Given the description of an element on the screen output the (x, y) to click on. 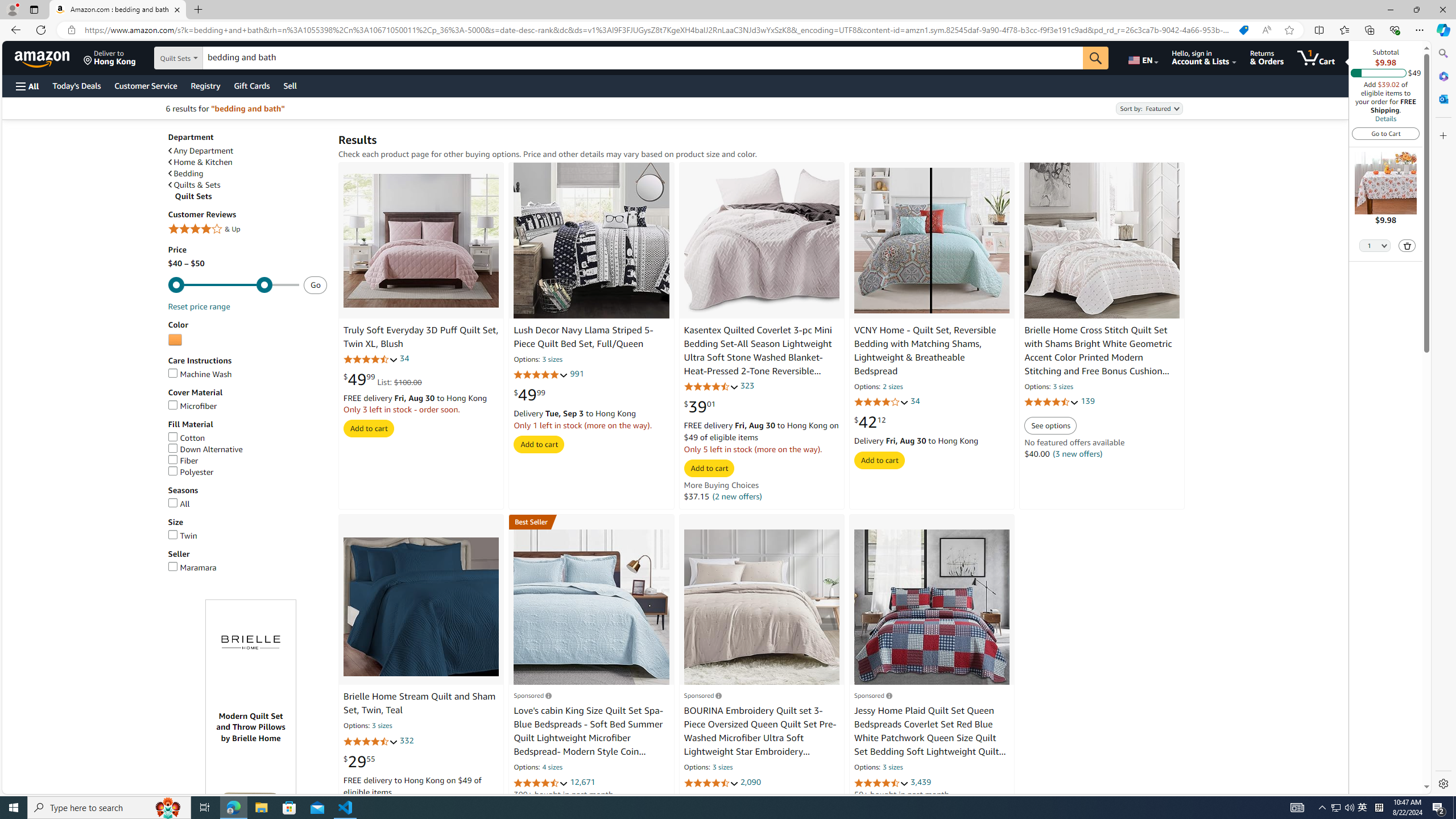
$41.99 (700, 802)
Search Amazon (642, 57)
$49.99 (529, 394)
Polyester (247, 472)
Customer Service (145, 85)
Registry (205, 85)
Fiber (247, 461)
Amazon (43, 57)
Home & Kitchen (247, 162)
